Given the description of an element on the screen output the (x, y) to click on. 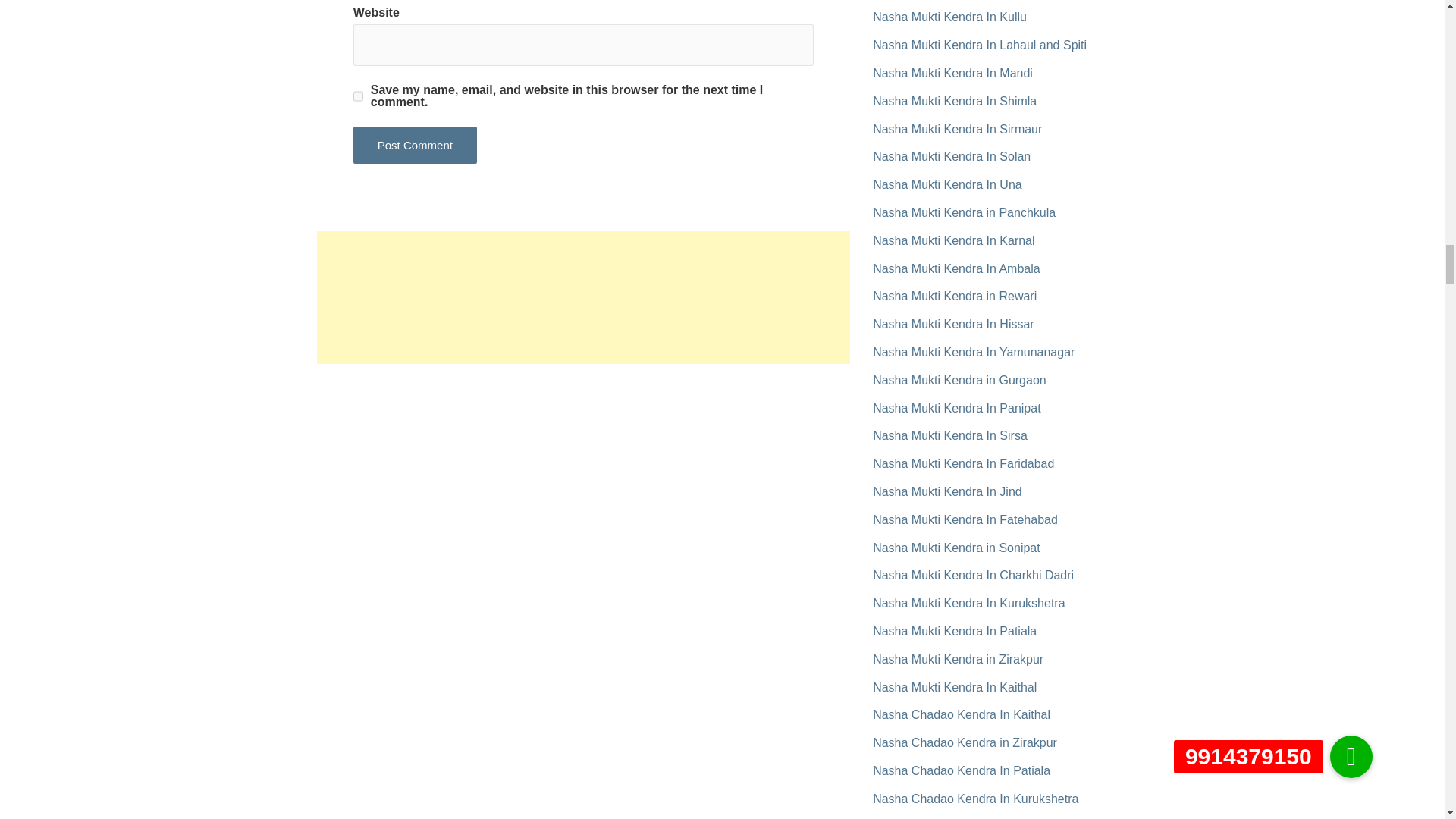
Post Comment (415, 144)
Post Comment (415, 144)
